Given the description of an element on the screen output the (x, y) to click on. 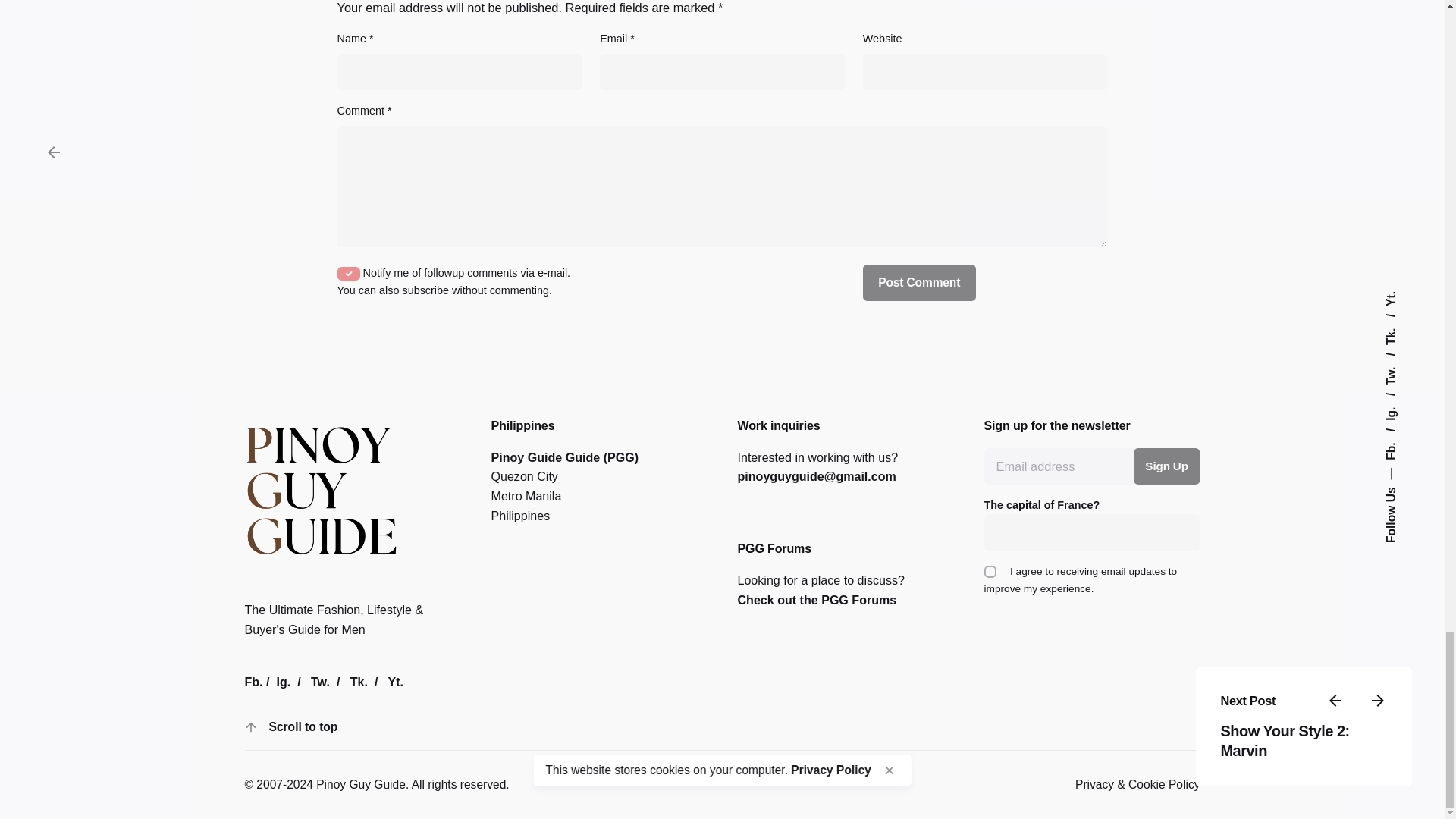
yes (348, 273)
Scroll to top (284, 727)
I agree to receiving email updates to improve my experience. (989, 571)
Scroll to top (302, 727)
Sign Up (1166, 465)
Post Comment (919, 282)
